Given the description of an element on the screen output the (x, y) to click on. 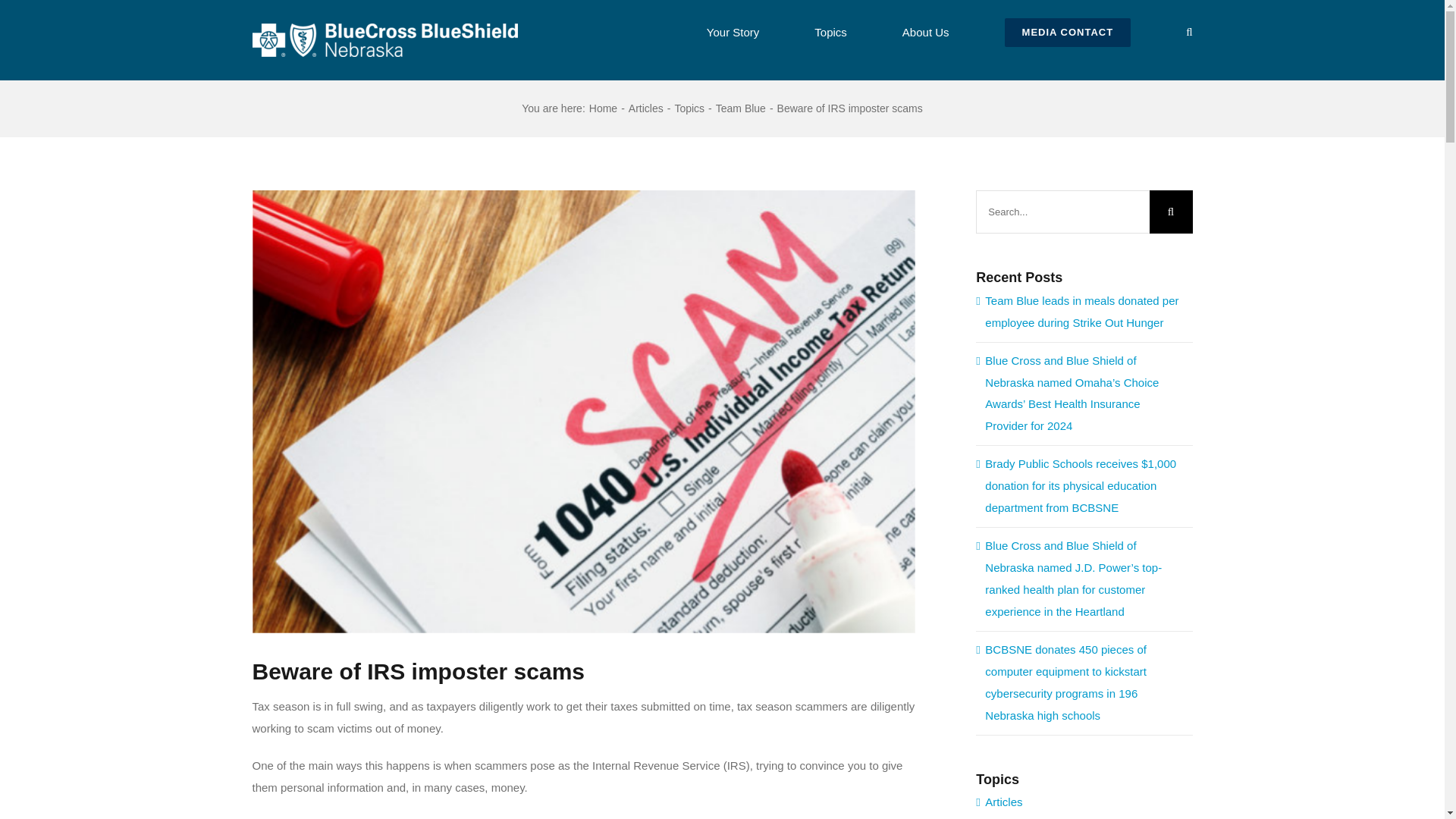
Team Blue (740, 108)
Topics (689, 108)
Home (603, 108)
Articles (645, 108)
MEDIA CONTACT (1067, 30)
